Given the description of an element on the screen output the (x, y) to click on. 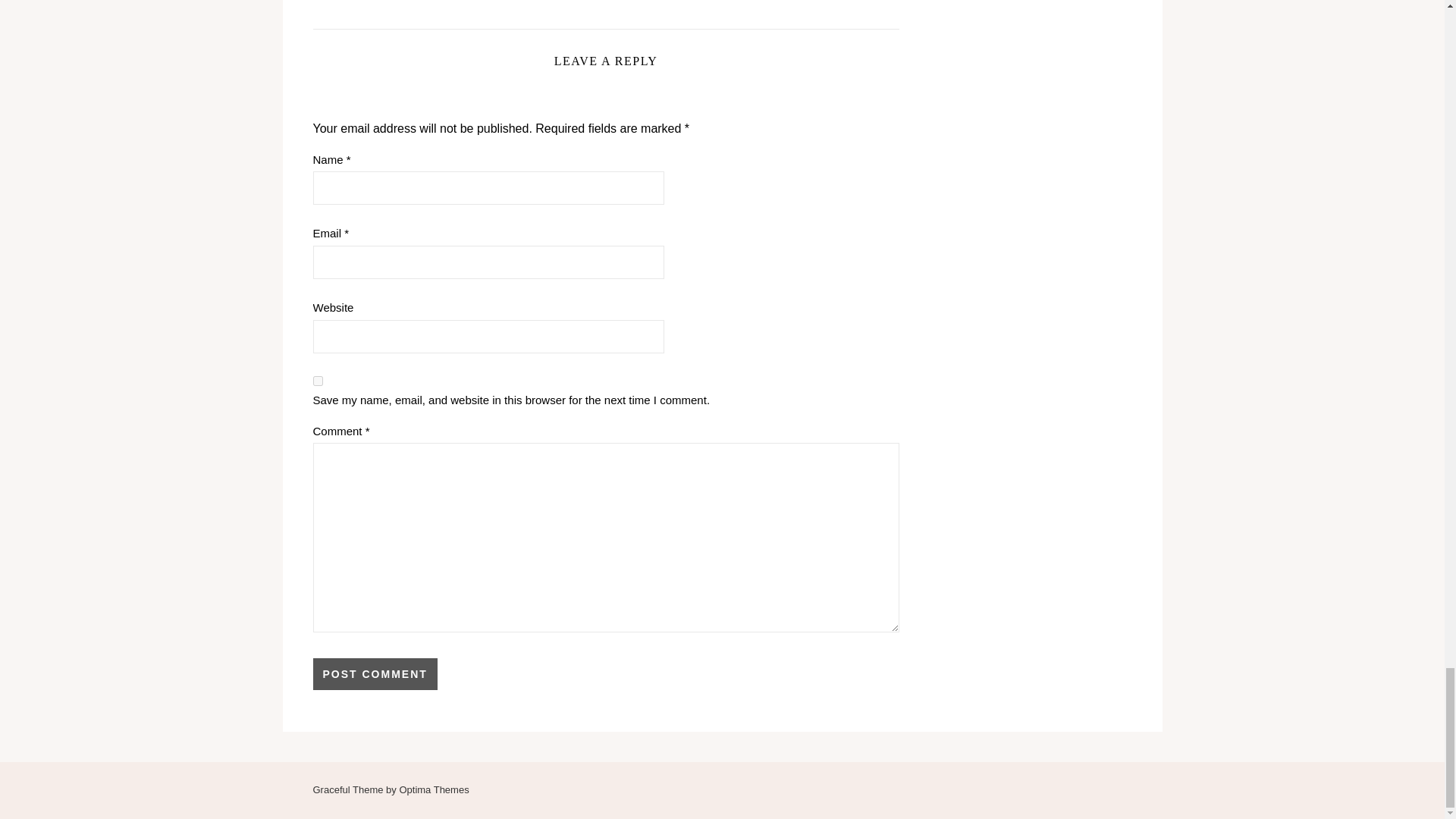
yes (317, 380)
Post Comment (374, 674)
Post Comment (374, 674)
